Given the description of an element on the screen output the (x, y) to click on. 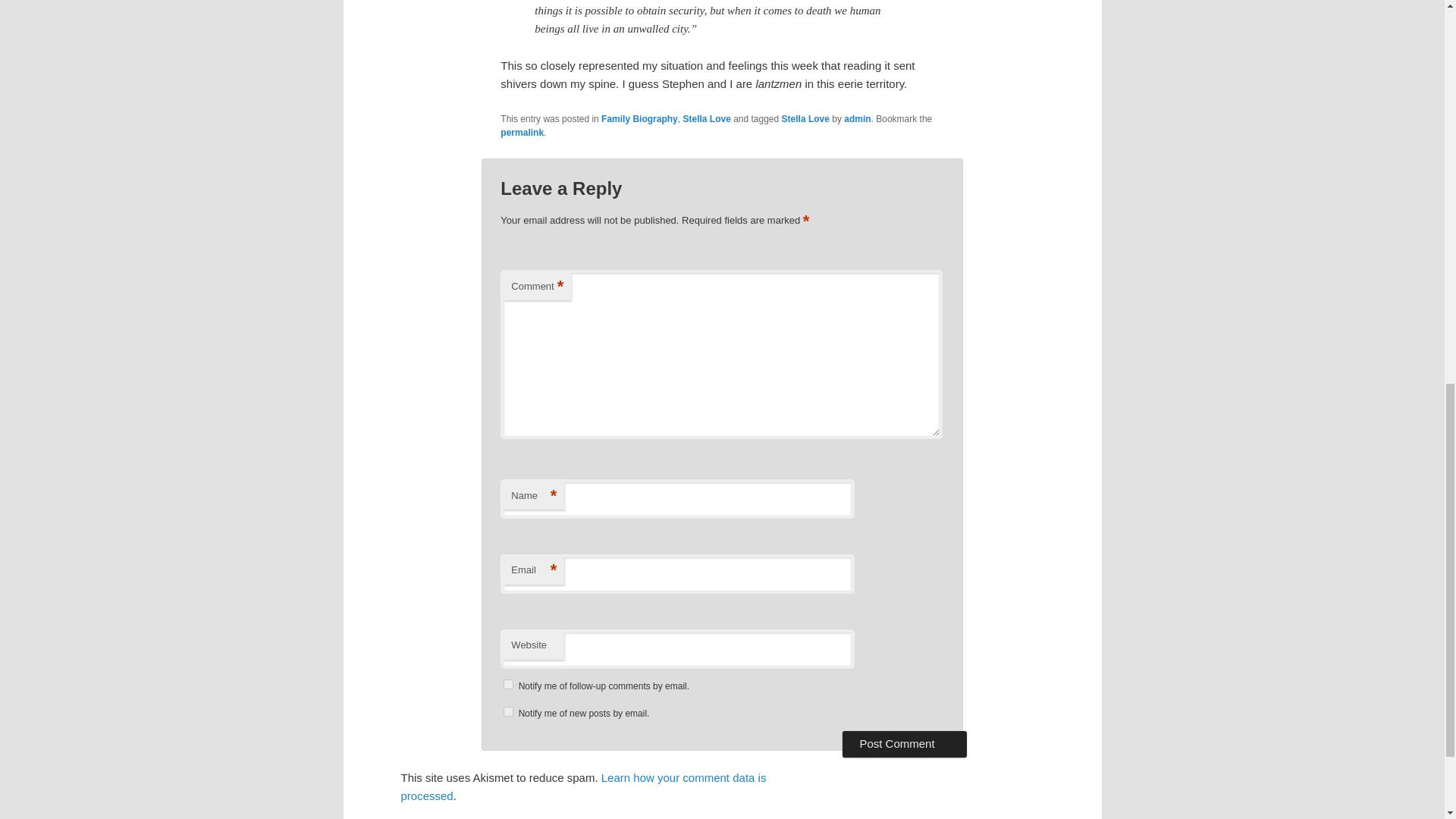
subscribe (508, 684)
Learn how your comment data is processed (582, 786)
permalink (521, 132)
Family Biography (639, 118)
admin (857, 118)
Post Comment (904, 743)
Permalink to A Poignant Comment Representing A State of Mind (521, 132)
Stella Love (805, 118)
subscribe (508, 711)
Post Comment (904, 743)
